Given the description of an element on the screen output the (x, y) to click on. 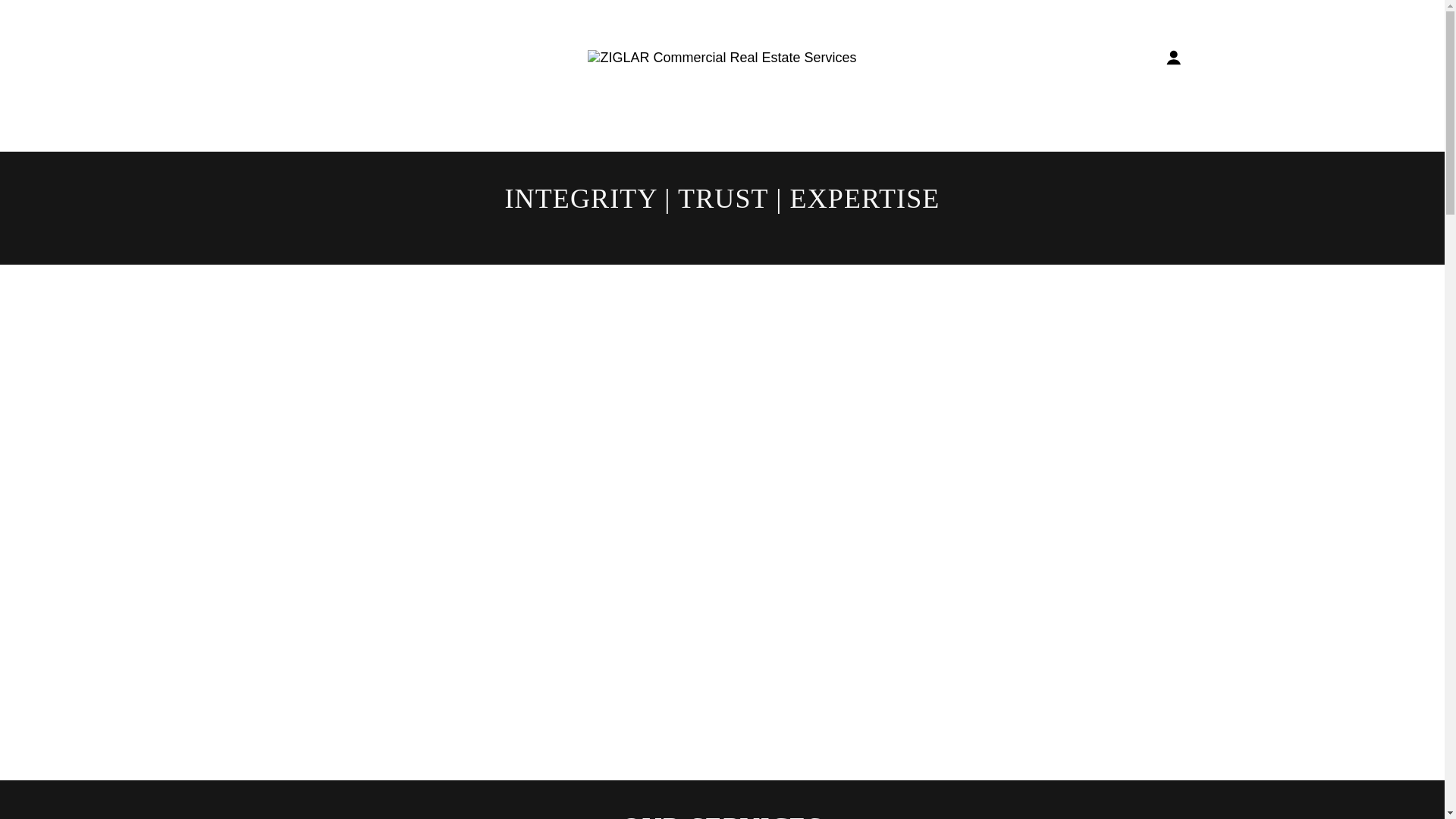
ZIGLAR Commercial Real Estate Services (722, 56)
